Given the description of an element on the screen output the (x, y) to click on. 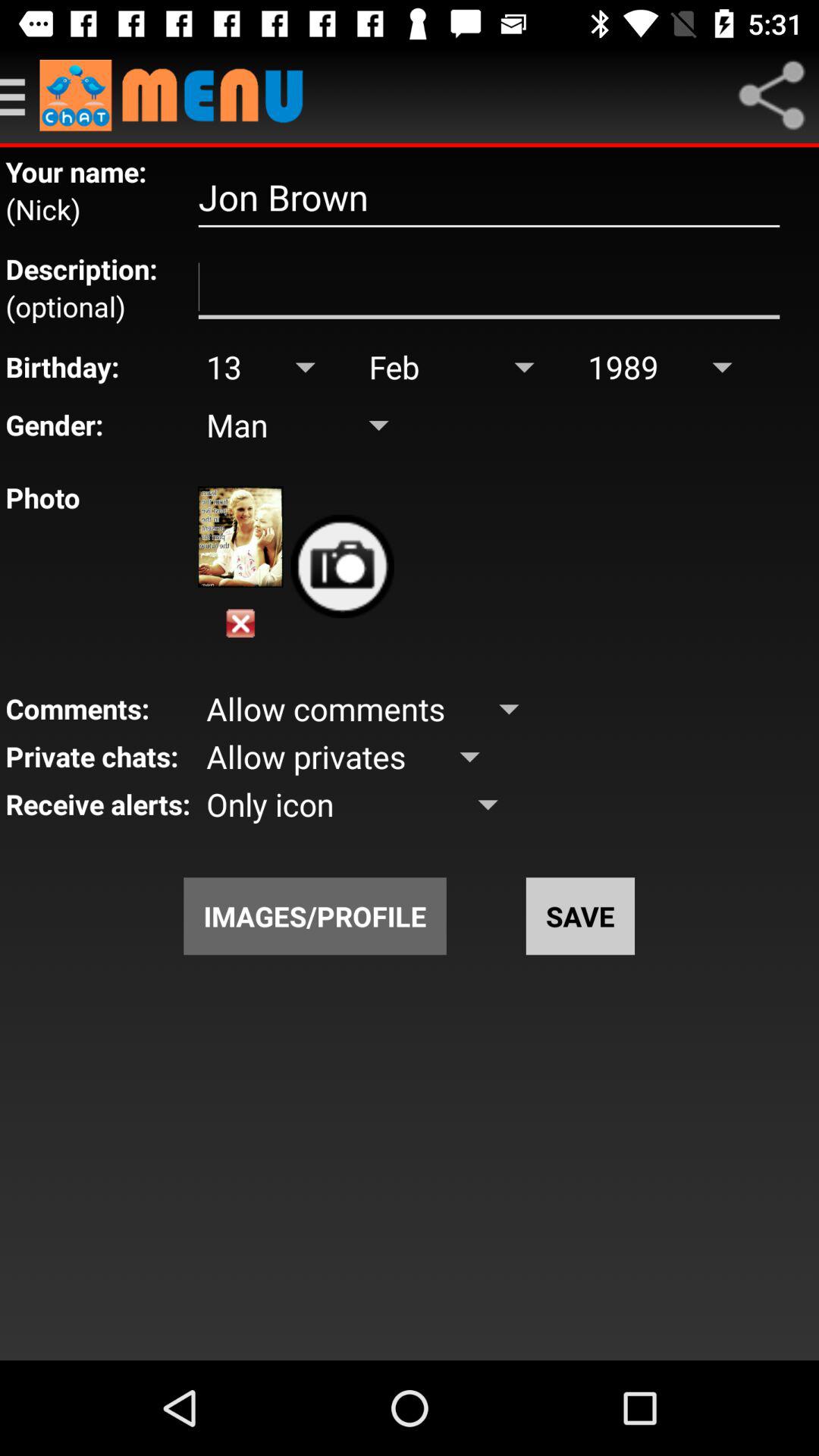
menu pega (19, 95)
